Given the description of an element on the screen output the (x, y) to click on. 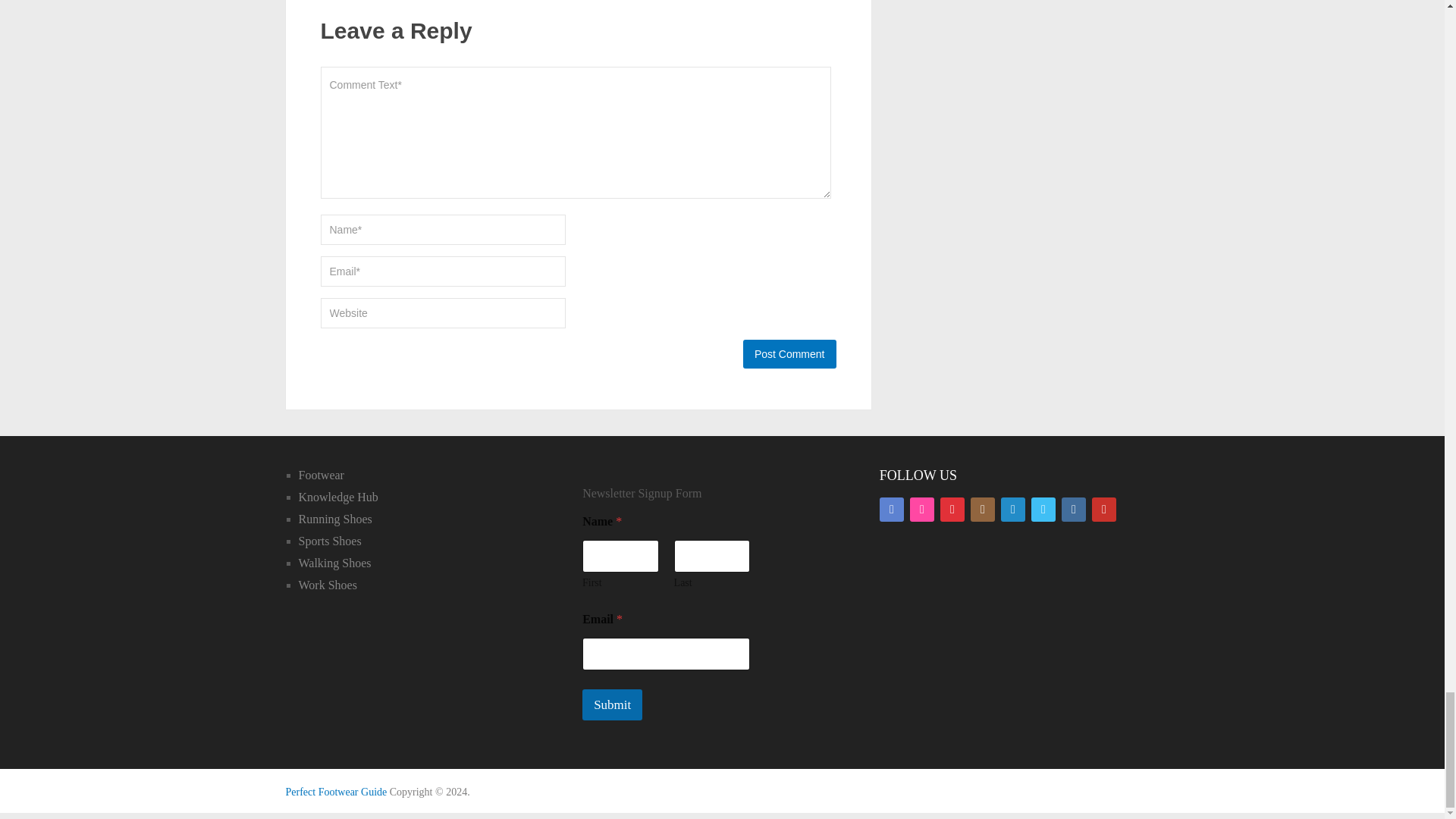
Post Comment (788, 353)
